Given the description of an element on the screen output the (x, y) to click on. 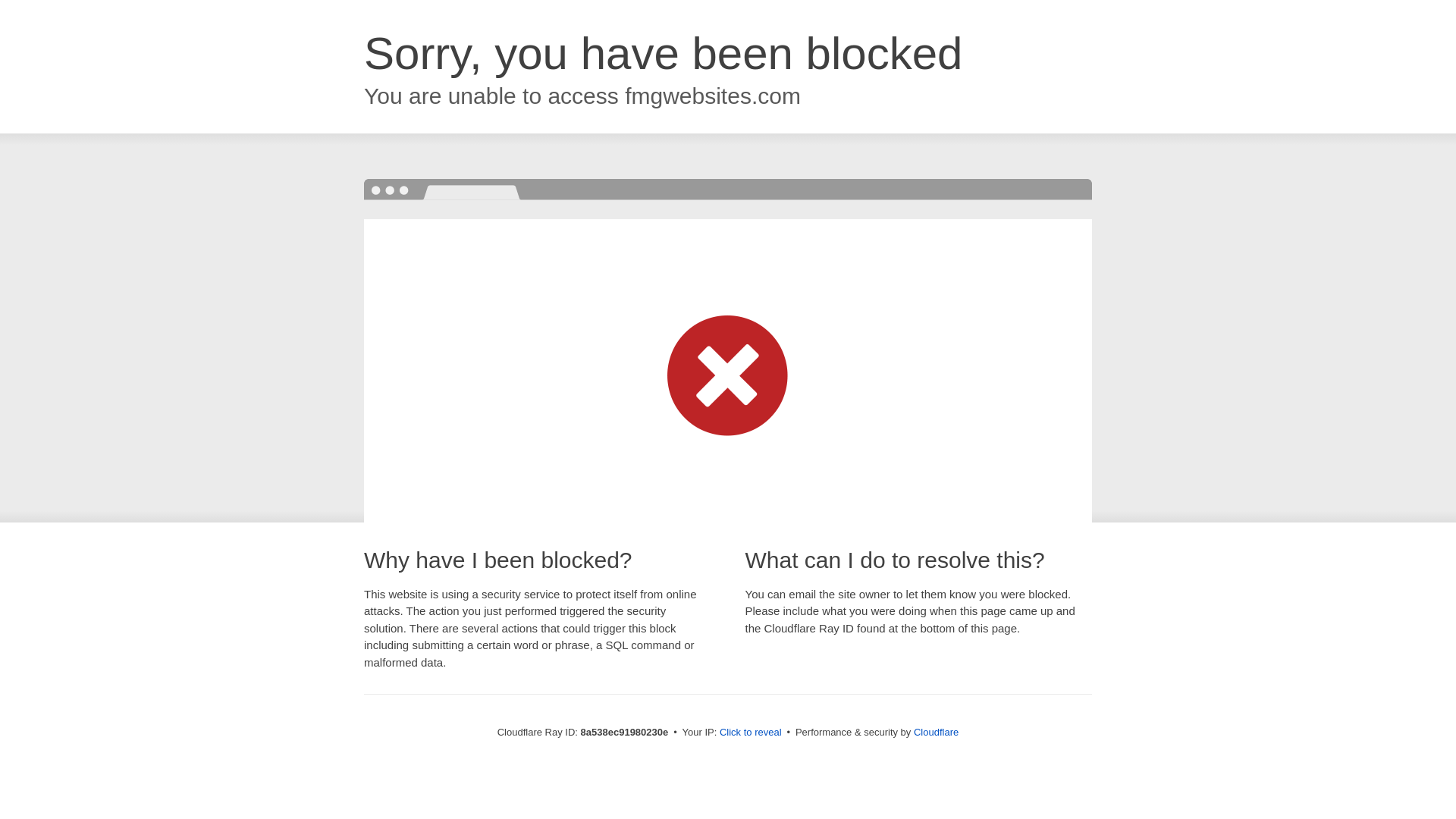
Cloudflare (936, 731)
Click to reveal (750, 732)
